Given the description of an element on the screen output the (x, y) to click on. 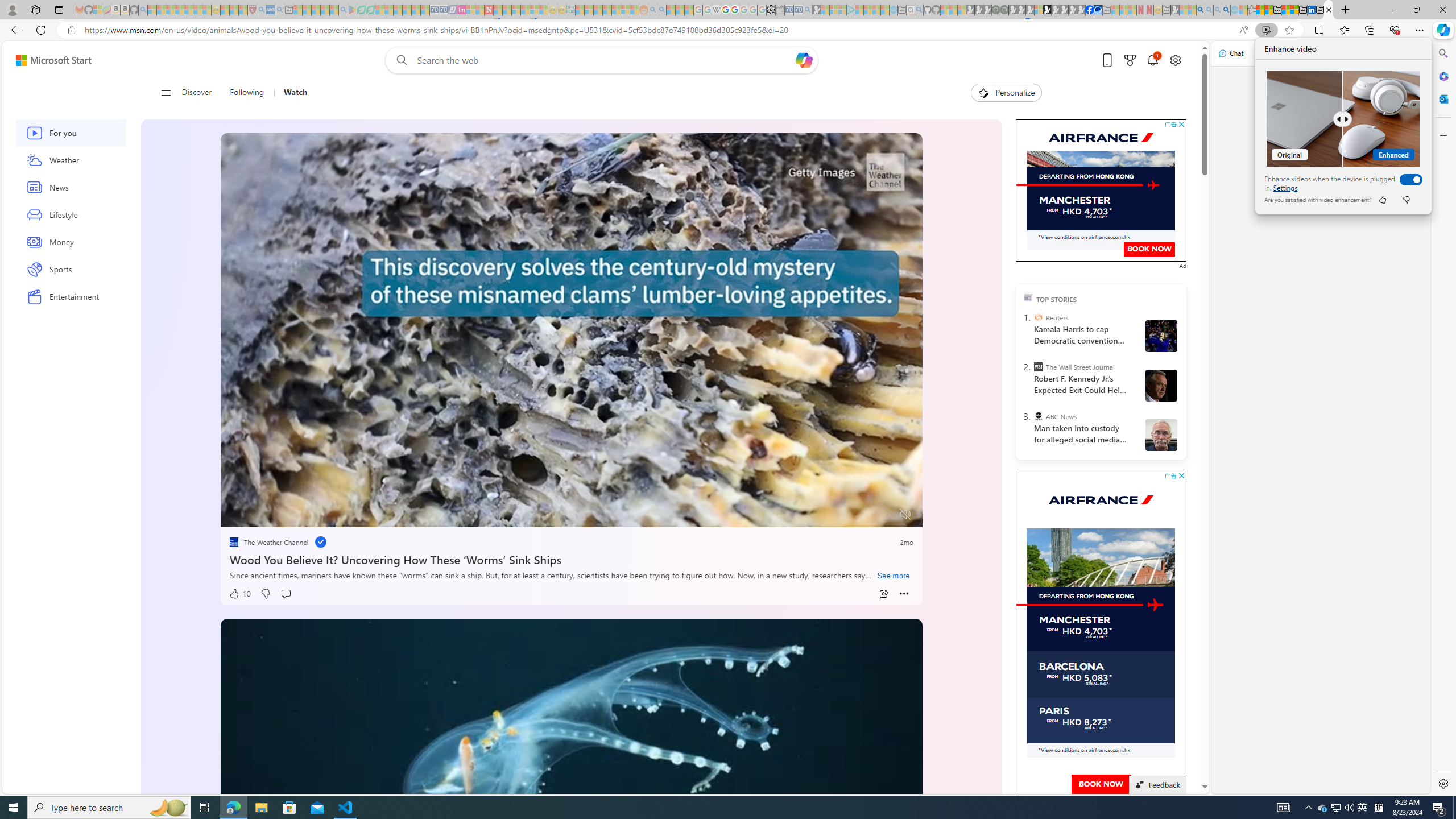
The Weather Channel - MSN - Sleeping (170, 9)
Privacy Help Center - Policies Help (725, 9)
Microsoft rewards (1129, 60)
Terms of Use Agreement - Sleeping (361, 9)
Glass Octopus Captured in Rare Footage By Underwater Robot/ (517, 329)
AutomationID: cbb (1181, 475)
